Given the description of an element on the screen output the (x, y) to click on. 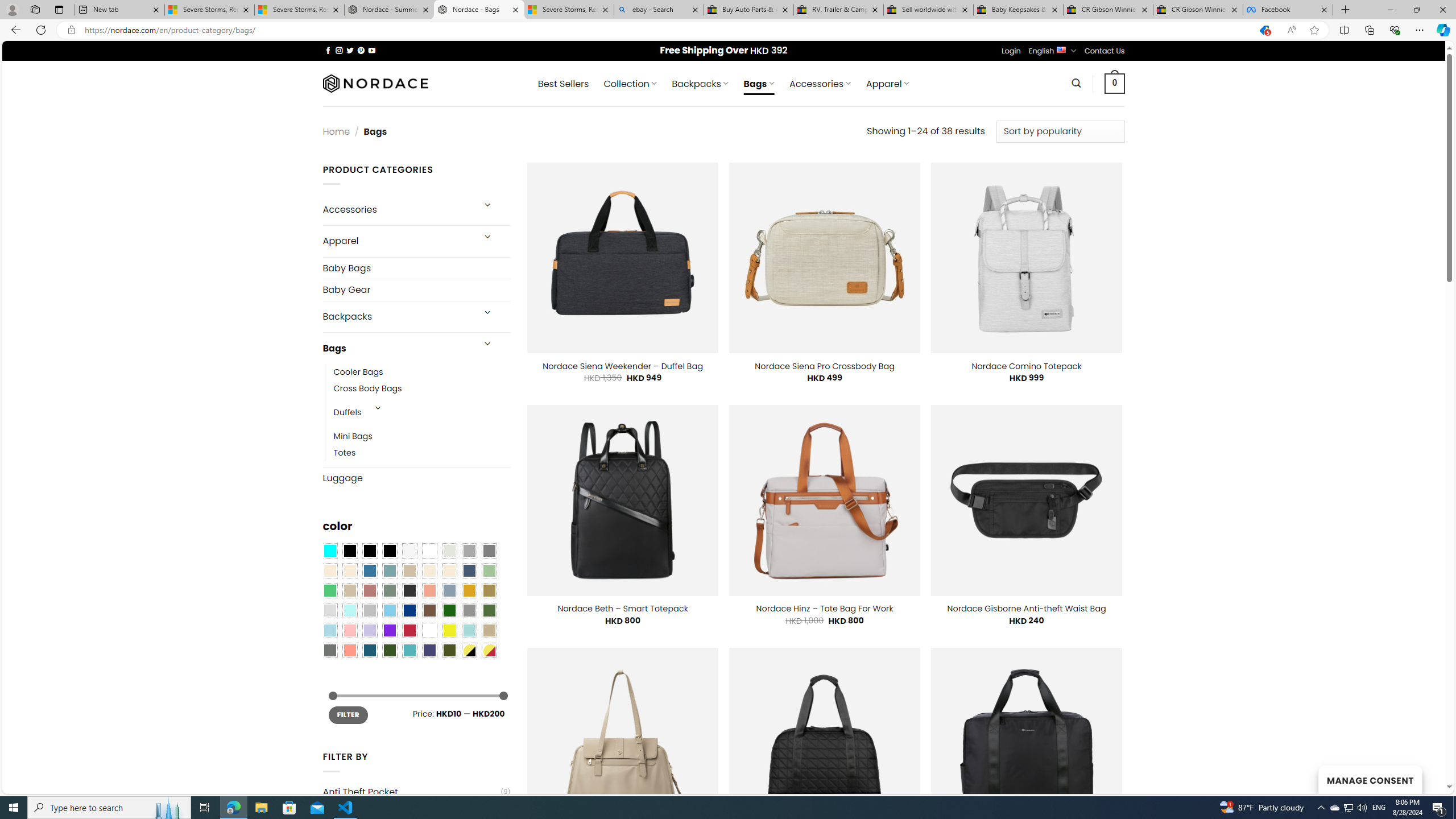
This site has coupons! Shopping in Microsoft Edge, 5 (1263, 29)
Apparel (397, 241)
